Given the description of an element on the screen output the (x, y) to click on. 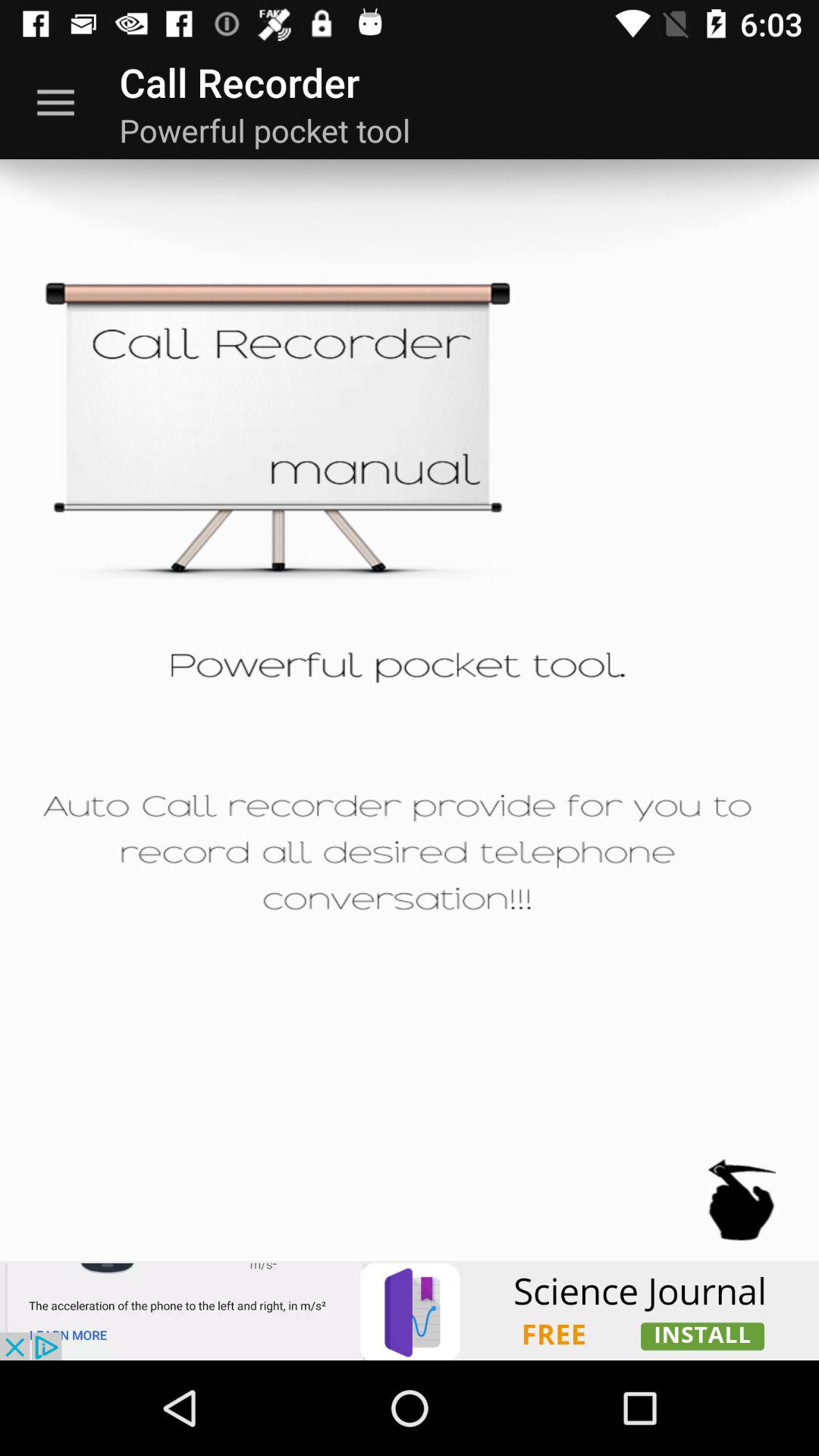
opens a advertisement (409, 1310)
